Given the description of an element on the screen output the (x, y) to click on. 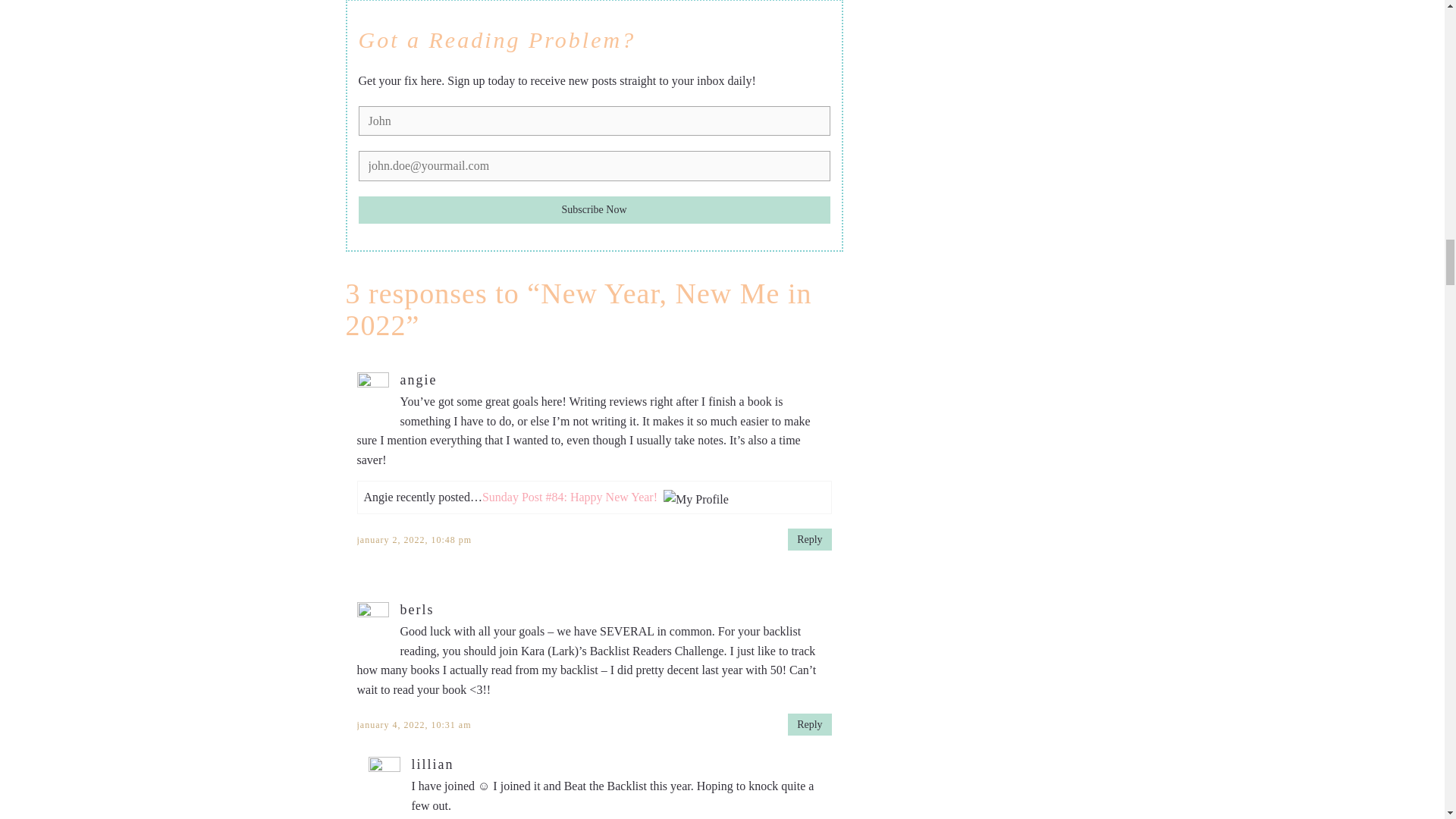
Subscribe Now (593, 209)
